Given the description of an element on the screen output the (x, y) to click on. 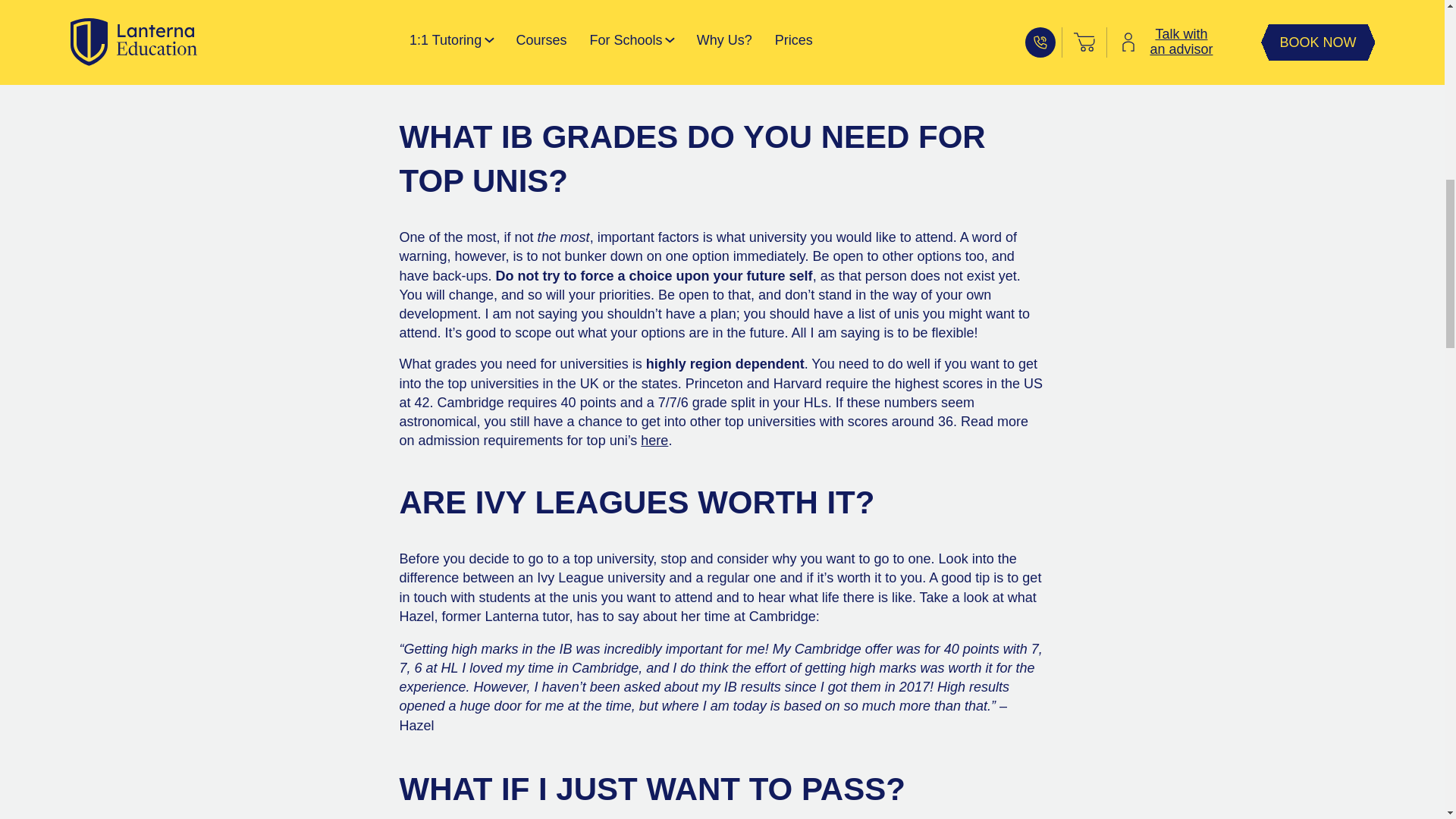
here (654, 440)
